Given the description of an element on the screen output the (x, y) to click on. 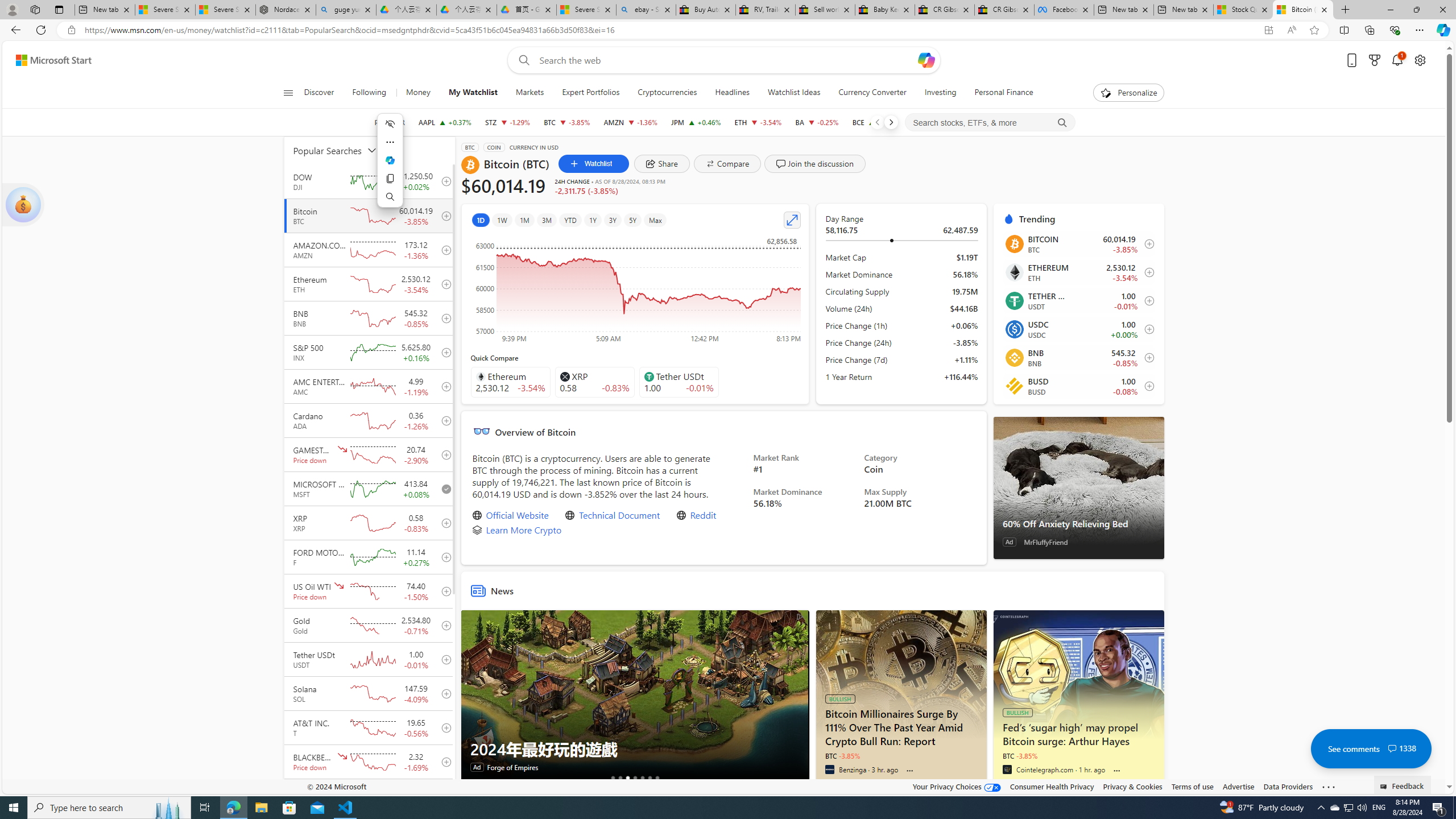
Next (890, 122)
Ask Copilot (390, 160)
Cointelegraph.com (1006, 768)
Mini menu on text selection (390, 167)
Max (654, 219)
Previous (876, 122)
Personal Finance (1003, 92)
Add to Watchlist (1145, 385)
USDC (1013, 329)
Markets (529, 92)
Class: autoSuggestIcon-DS-EntryPoint1-3 (648, 376)
Consumer Health Privacy (1051, 786)
60% Off Anxiety Relieving Bed (1077, 523)
